Given the description of an element on the screen output the (x, y) to click on. 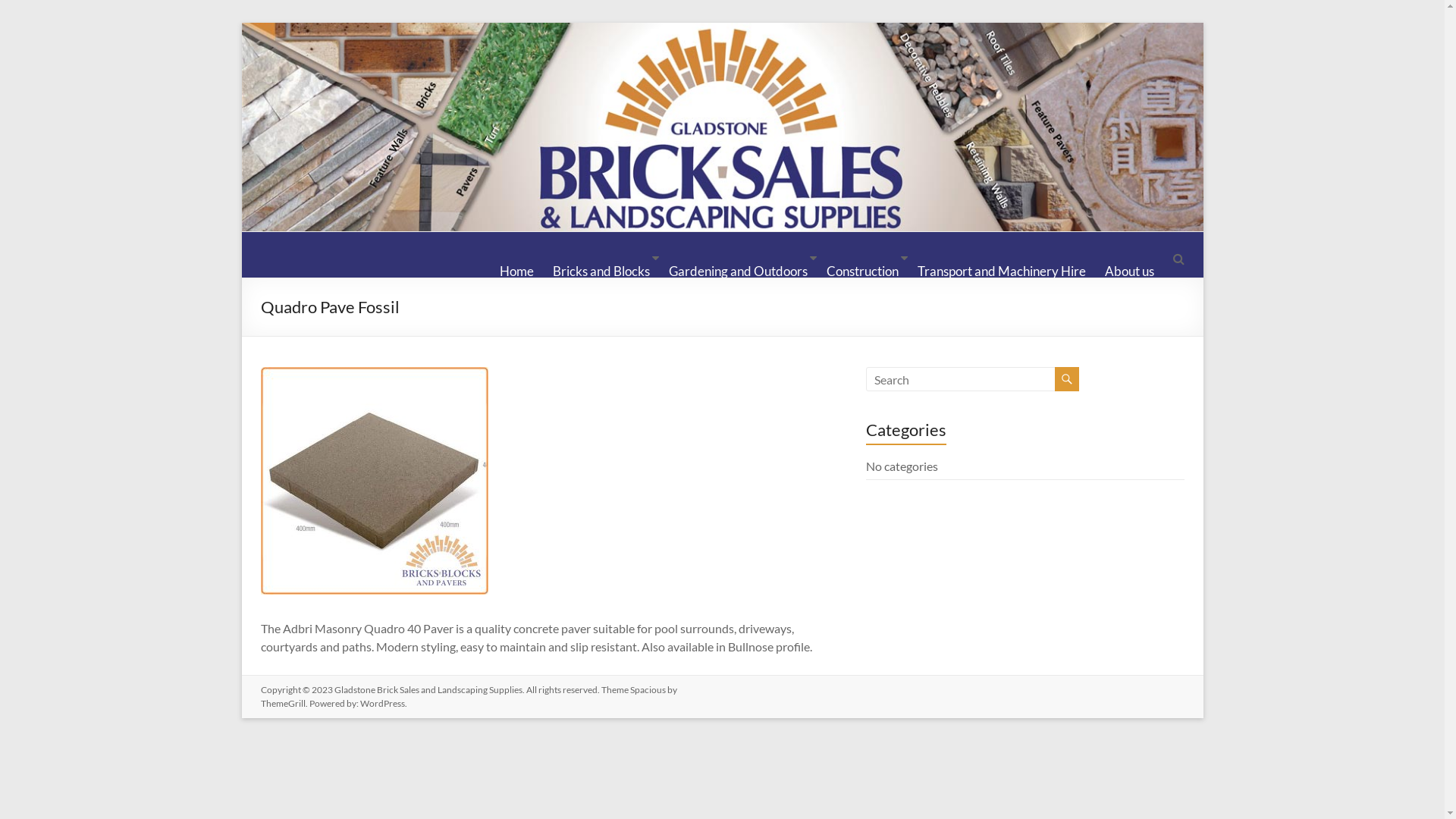
Home Element type: text (515, 258)
Gardening and Outdoors Element type: text (737, 258)
Transport and Machinery Hire Element type: text (1001, 258)
About us Element type: text (1128, 258)
Skip to content Element type: text (241, 21)
Spacious Element type: text (647, 689)
Gladstone Brick Sales and Landscaping Supplies Element type: text (427, 689)
Gladstone Brick Sales and Landscaping Supplies Element type: text (333, 324)
Construction Element type: text (862, 258)
WordPress Element type: text (381, 703)
Bricks and Blocks Element type: text (600, 258)
